Given the description of an element on the screen output the (x, y) to click on. 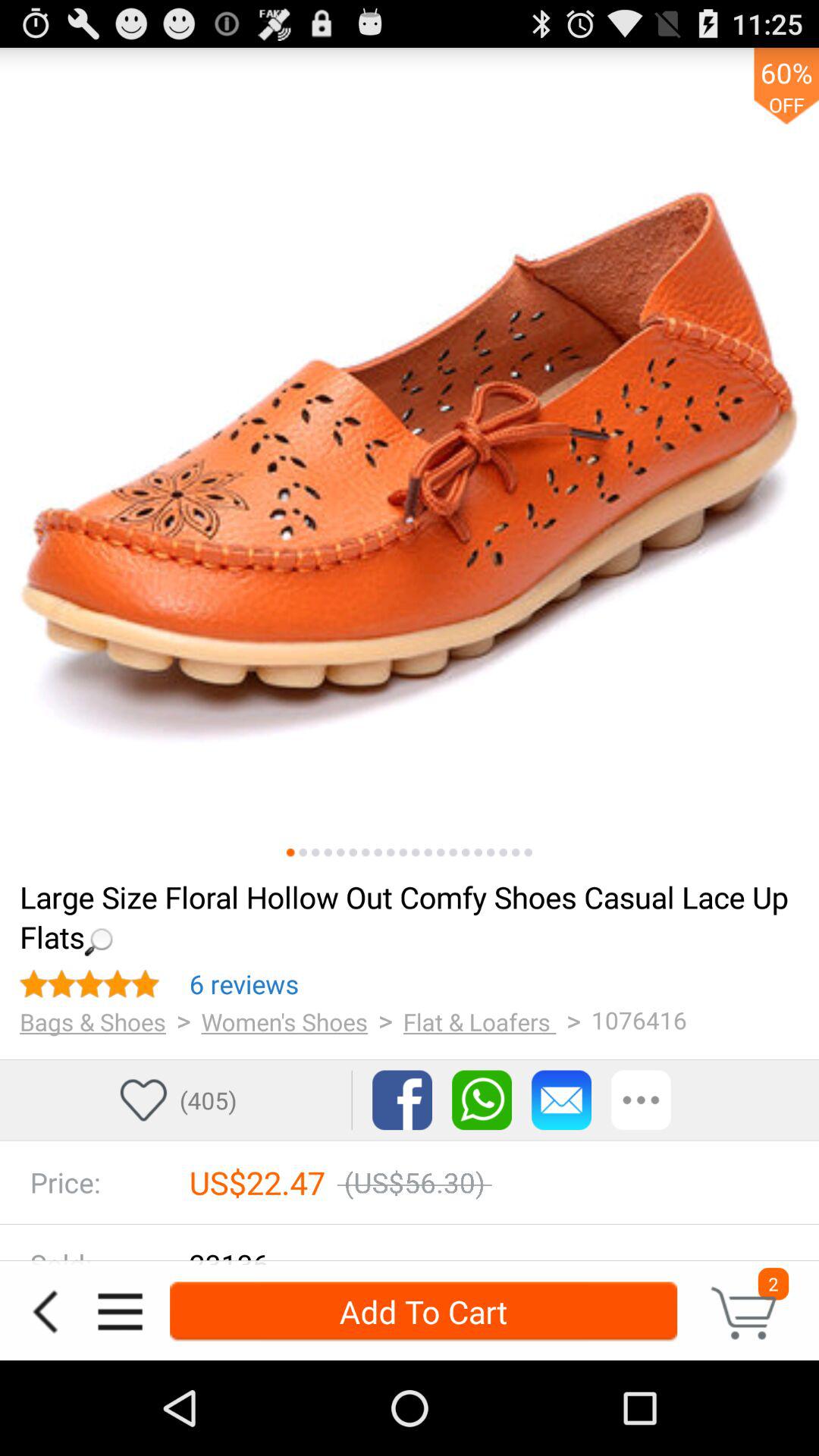
view another image (353, 852)
